Given the description of an element on the screen output the (x, y) to click on. 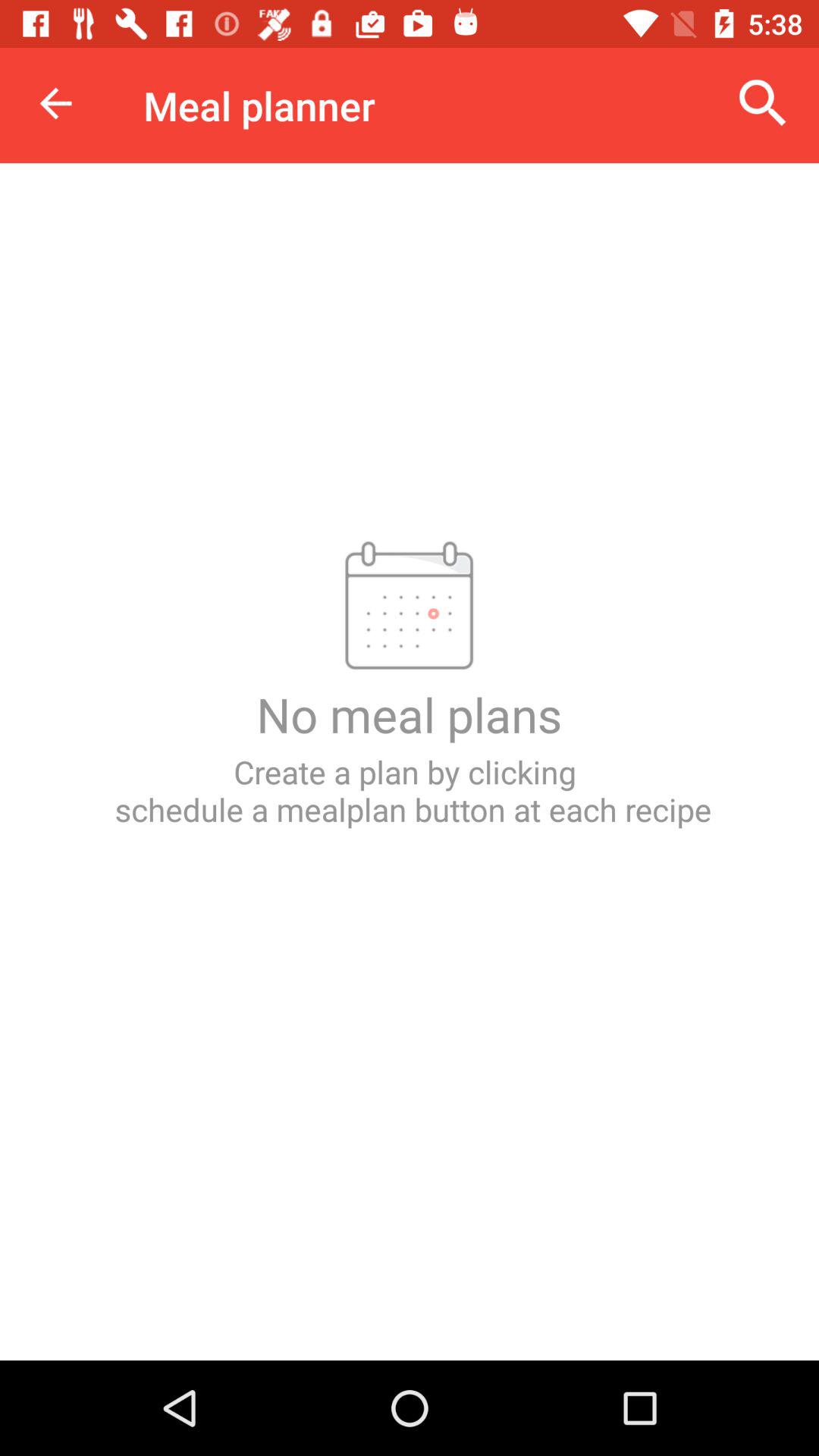
open icon to the left of the meal planner item (55, 103)
